Given the description of an element on the screen output the (x, y) to click on. 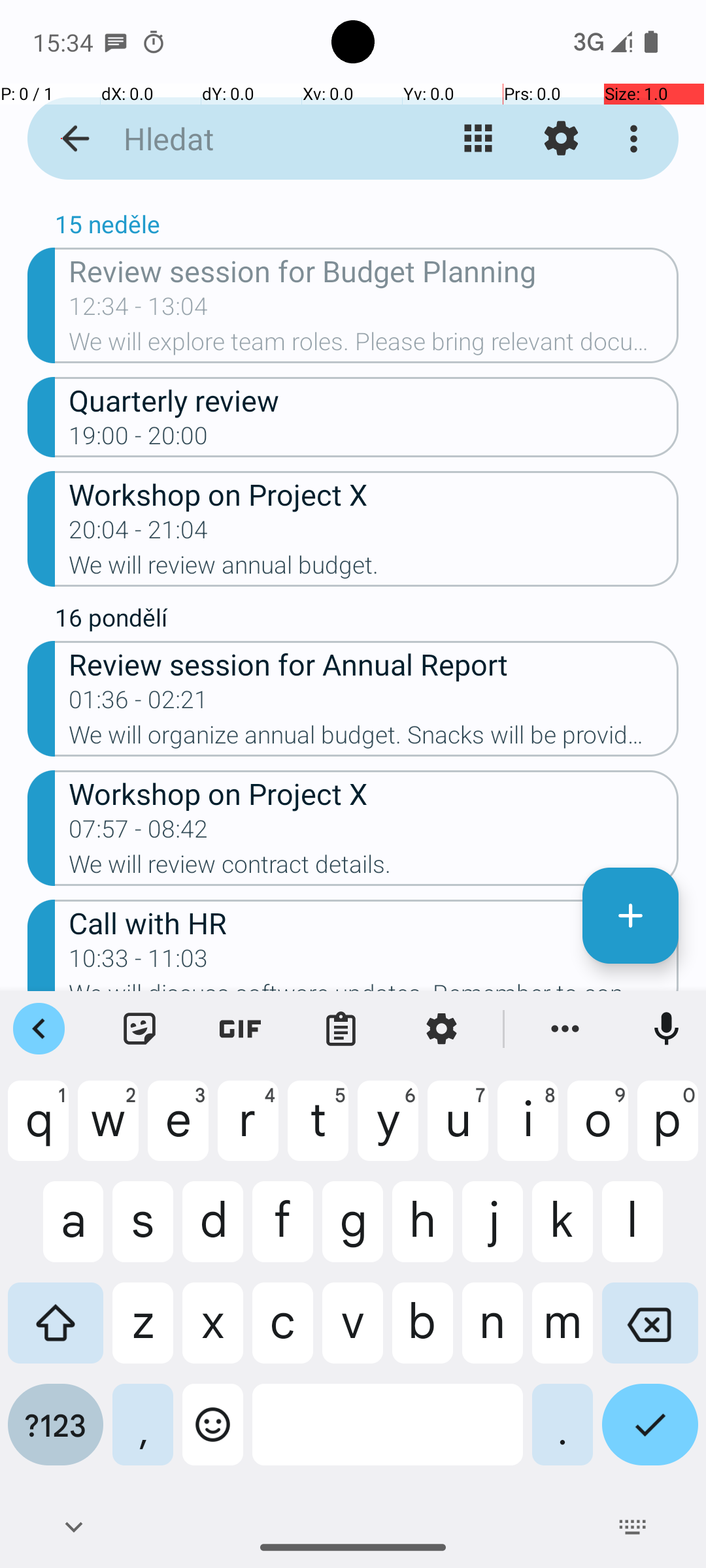
ŘÍJEN Element type: android.widget.TextView (353, 200)
15 neděle Element type: android.widget.TextView (366, 227)
16 pondělí Element type: android.widget.TextView (366, 620)
12:34 - 13:04 Element type: android.widget.TextView (137, 309)
We will explore team roles. Please bring relevant documents. Element type: android.widget.TextView (373, 345)
Quarterly review Element type: android.widget.TextView (373, 399)
19:00 - 20:00 Element type: android.widget.TextView (137, 439)
20:04 - 21:04 Element type: android.widget.TextView (137, 533)
We will review annual budget. Element type: android.widget.TextView (373, 568)
01:36 - 02:21 Element type: android.widget.TextView (137, 703)
We will organize annual budget. Snacks will be provided. Element type: android.widget.TextView (373, 738)
07:57 - 08:42 Element type: android.widget.TextView (137, 832)
We will review contract details. Element type: android.widget.TextView (373, 867)
10:33 - 11:03 Element type: android.widget.TextView (137, 962)
We will discuss software updates. Remember to confirm attendance. Element type: android.widget.TextView (373, 985)
